Given the description of an element on the screen output the (x, y) to click on. 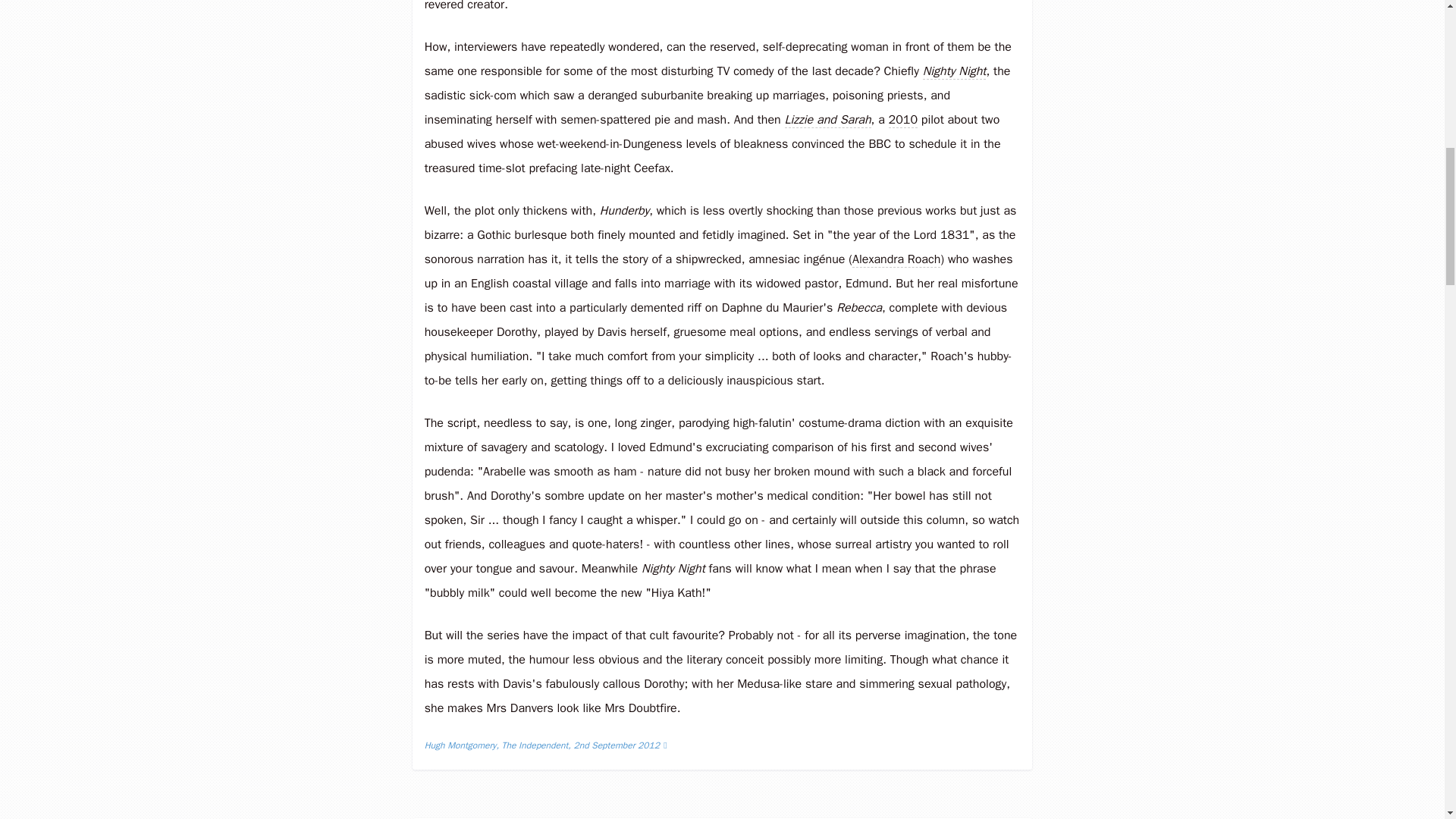
Alexandra Roach profile (895, 259)
A guide to the year 2010 (902, 119)
